Given the description of an element on the screen output the (x, y) to click on. 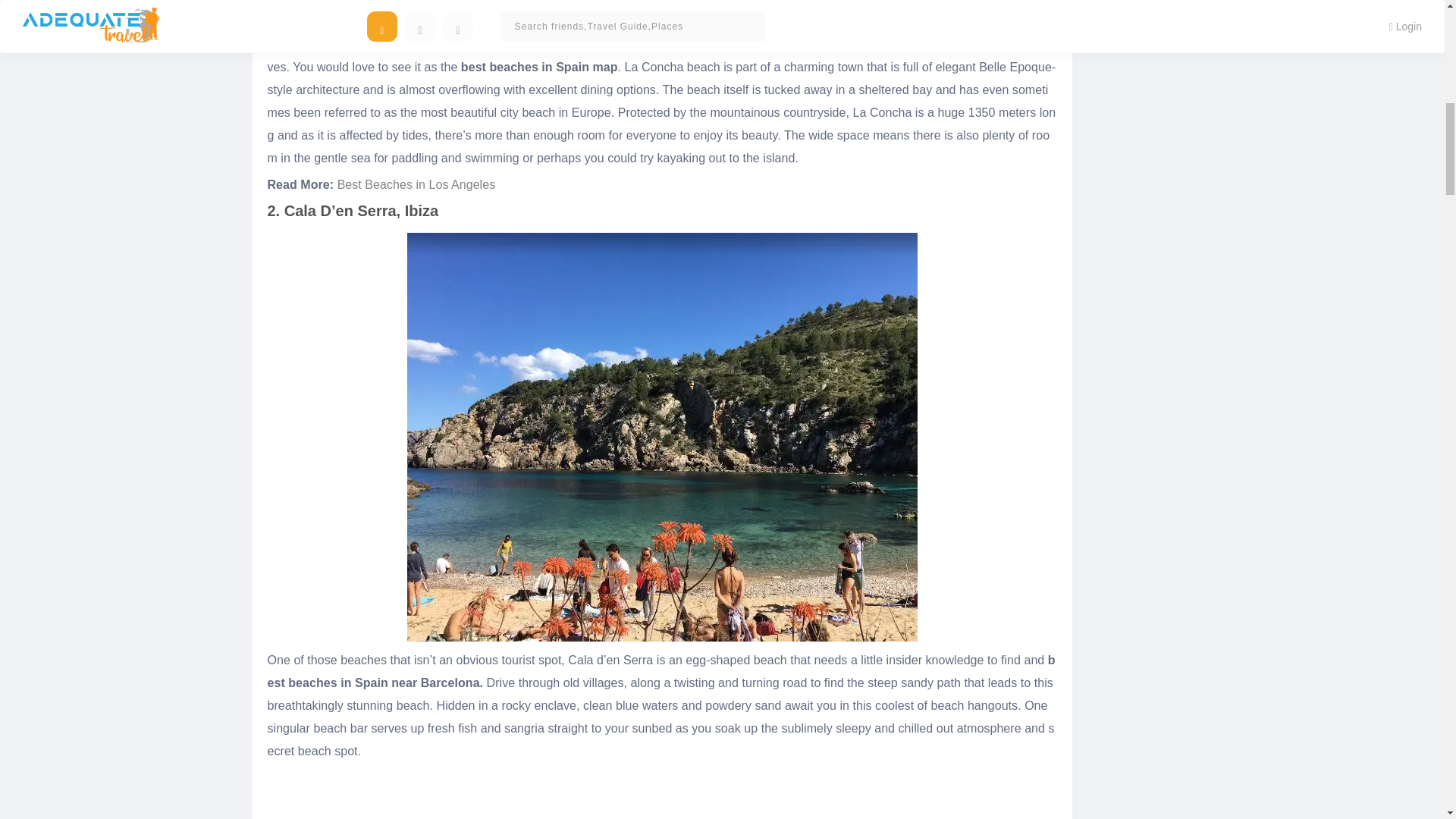
Beaches in Spain (661, 12)
Best Beaches in Los Angeles (416, 184)
